Given the description of an element on the screen output the (x, y) to click on. 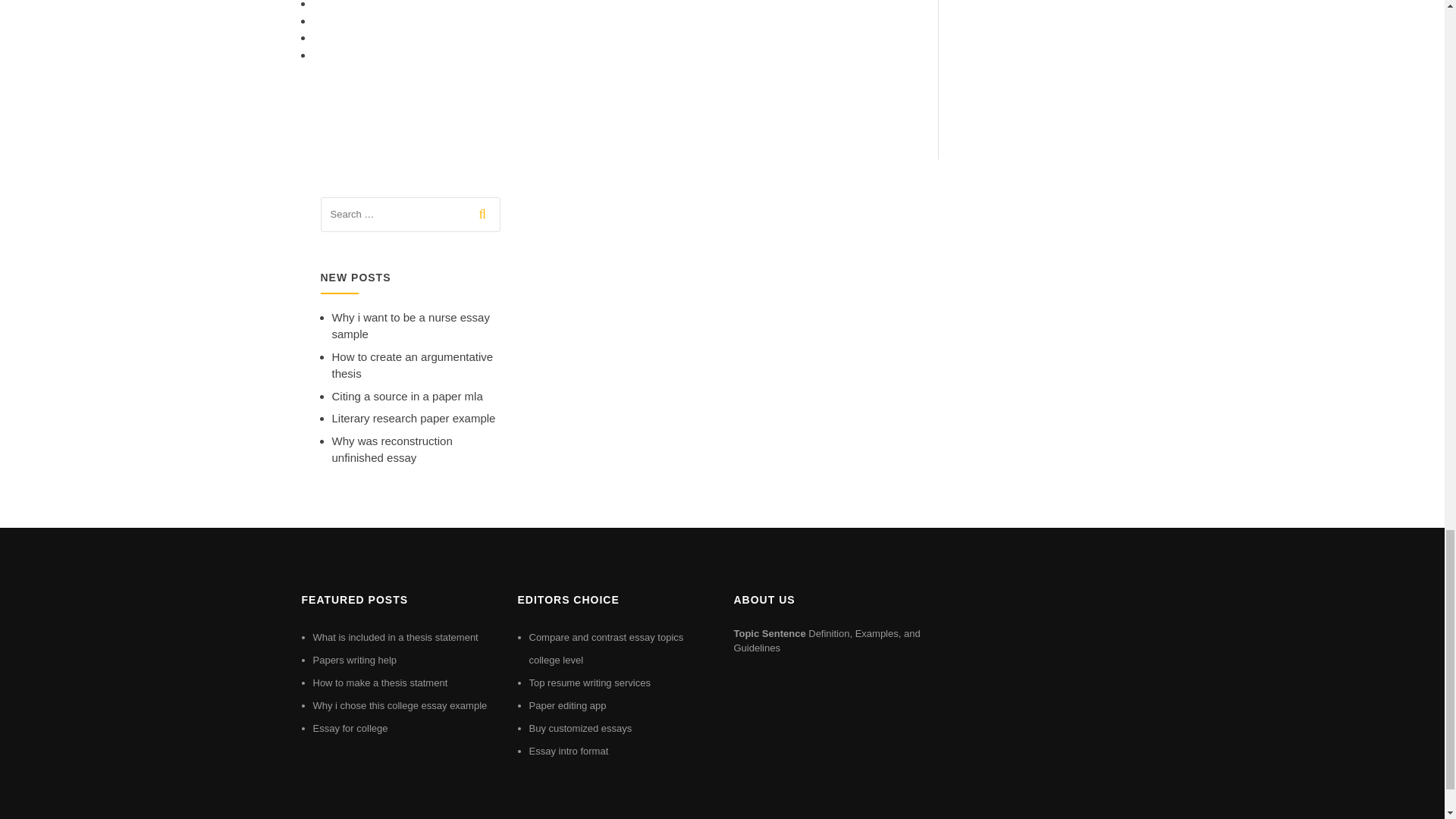
Compare and contrast essay topics college level (606, 648)
Essay for college (350, 727)
Buy customized essays (580, 727)
Why i want to be a nurse essay sample (410, 326)
What is included in a thesis statement (395, 636)
Paper editing app (568, 705)
Top resume writing services (589, 682)
How to make a thesis statment (379, 682)
How to create an argumentative thesis (412, 365)
Why i chose this college essay example (399, 705)
Papers writing help (354, 659)
Literary research paper example (413, 418)
Why was reconstruction unfinished essay (391, 449)
Essay intro format (568, 750)
Citing a source in a paper mla (407, 395)
